Given the description of an element on the screen output the (x, y) to click on. 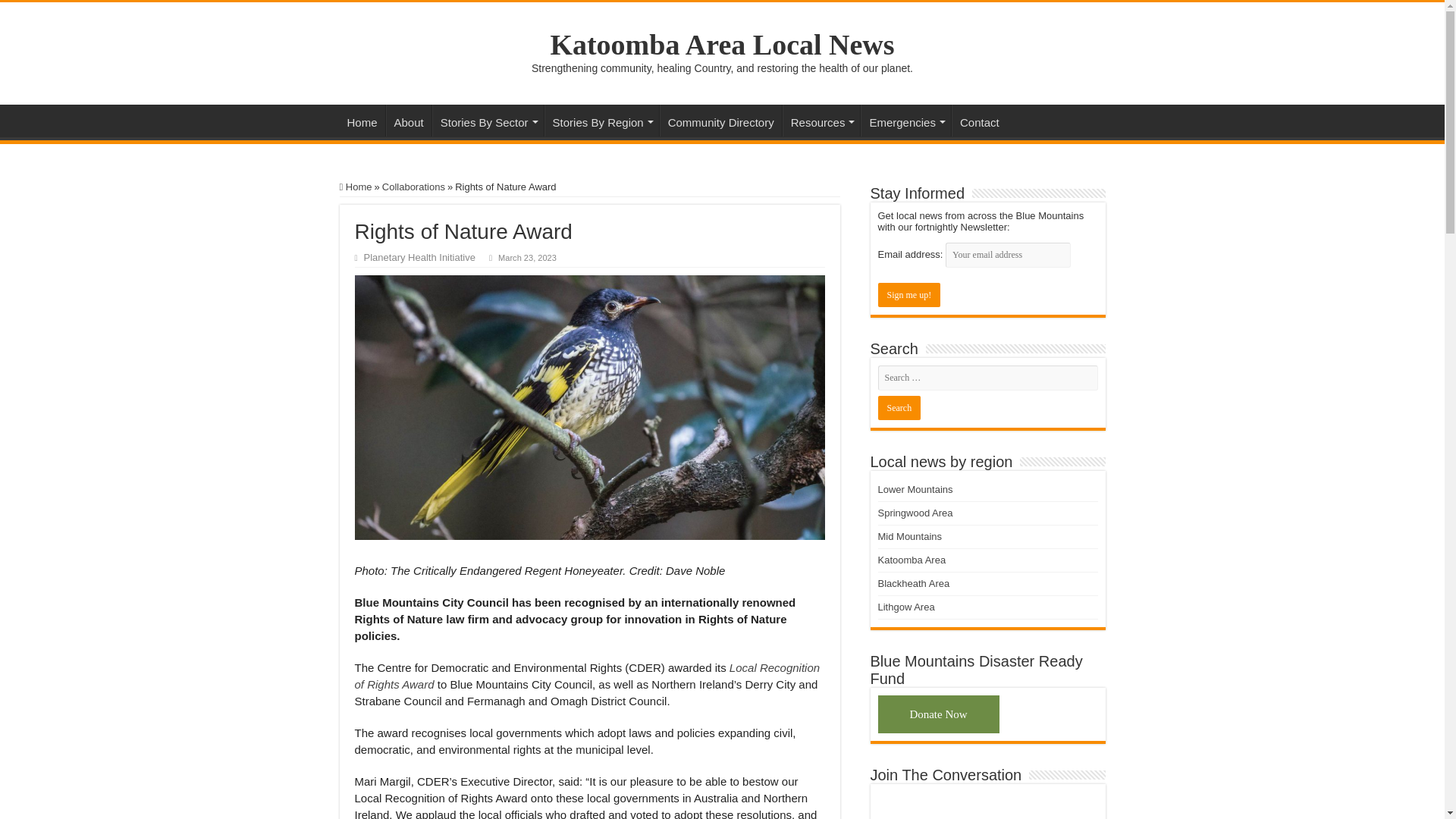
About (407, 120)
Support Us (937, 714)
Home (362, 120)
Home (355, 186)
Contact (1049, 120)
Emergencies (975, 120)
Planetary Health Initiative (420, 256)
Resources (890, 120)
Search (899, 407)
Sign me up! (908, 294)
